Given the description of an element on the screen output the (x, y) to click on. 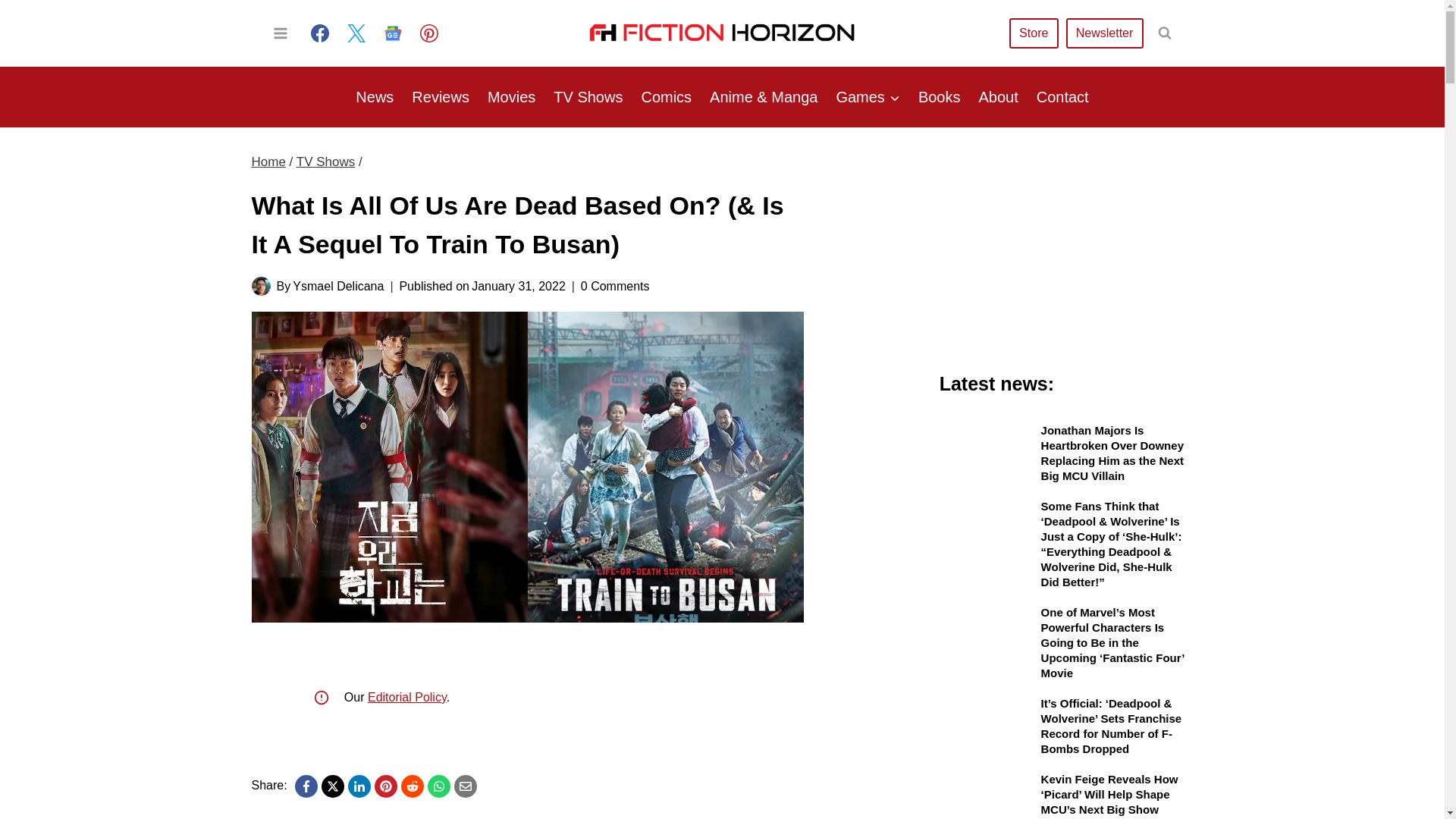
Ysmael Delicana (338, 286)
Books (938, 96)
Games (867, 96)
Movies (511, 96)
Comics (665, 96)
Newsletter (1103, 32)
Editorial Policy (407, 697)
Contact (1062, 96)
Reviews (441, 96)
TV Shows (587, 96)
